Given the description of an element on the screen output the (x, y) to click on. 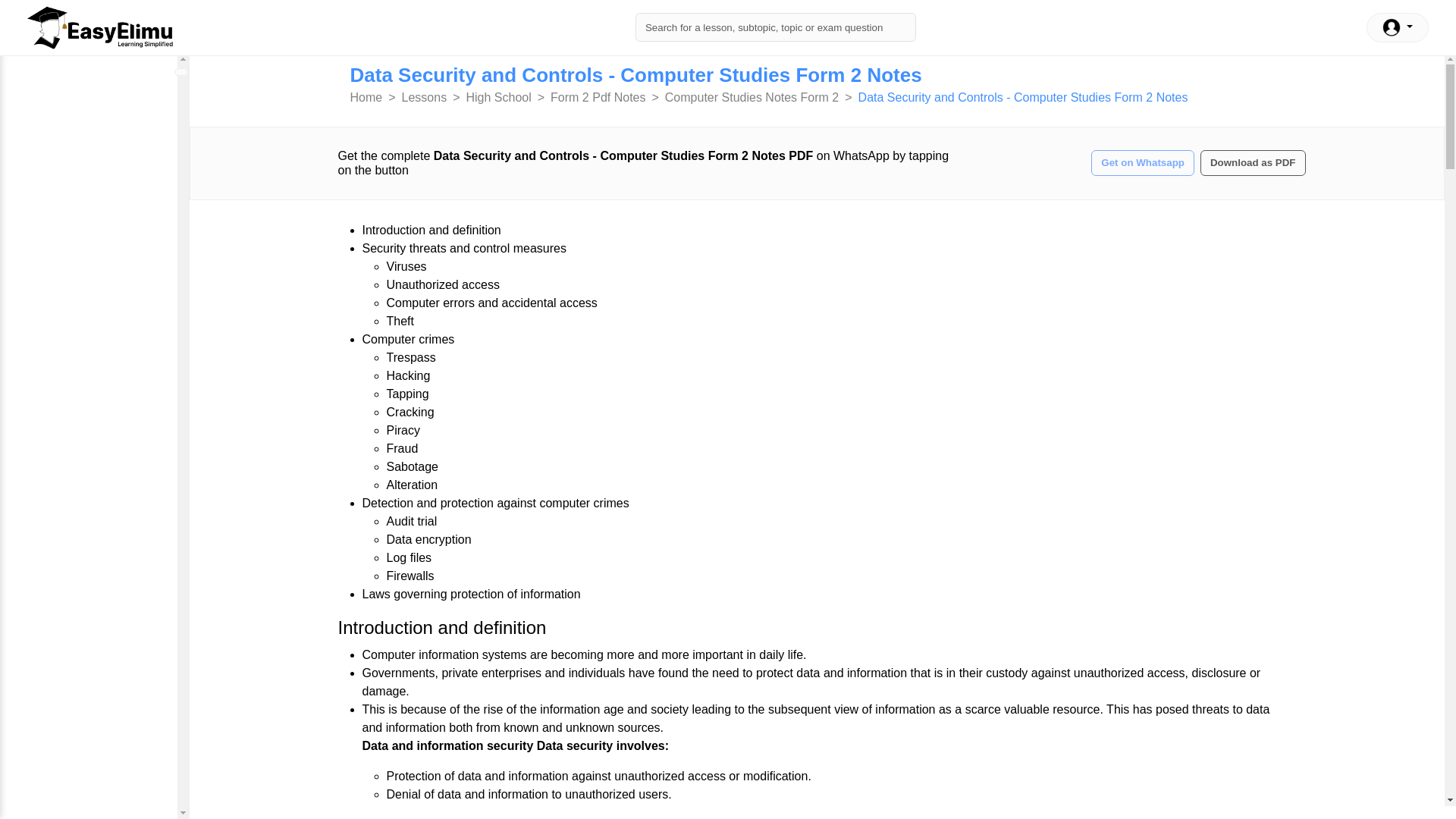
Introduction and definition (431, 229)
Lessons (423, 97)
Security threats and control measures (464, 247)
Computer errors and accidental access (491, 302)
Theft (400, 320)
Unauthorized access (443, 284)
Get on Whatsapp (1141, 162)
Get on Whatsapp (1141, 163)
Form 2 Pdf Notes (597, 97)
Trespass (411, 357)
Viruses (406, 266)
Computer crimes (408, 338)
Download as PDF (1252, 162)
Computer Studies Notes Form 2 (751, 97)
Home (366, 97)
